Given the description of an element on the screen output the (x, y) to click on. 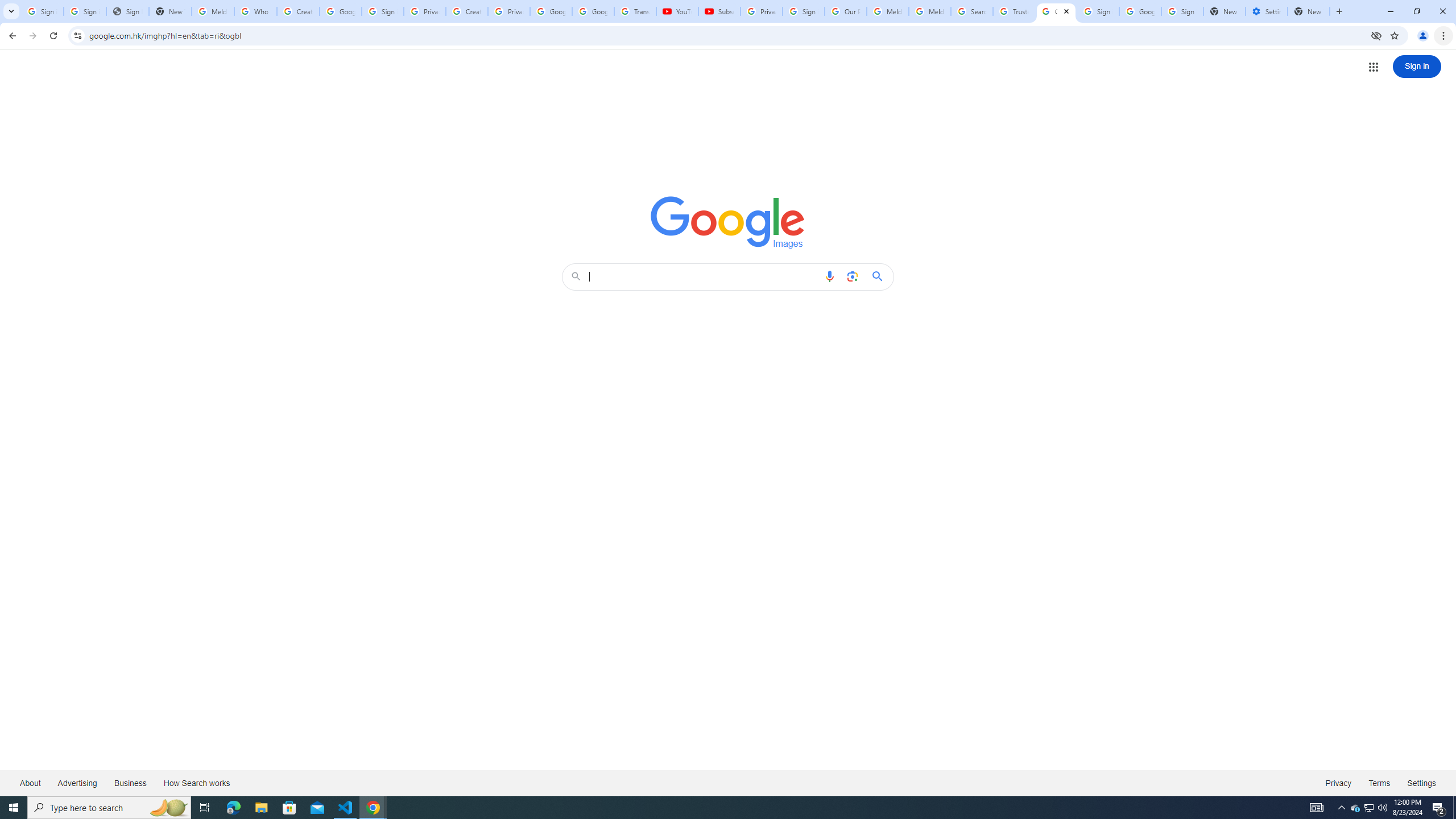
Google Search (880, 276)
Create your Google Account (298, 11)
How Search works (196, 782)
Create your Google Account (467, 11)
YouTube (676, 11)
Sign in - Google Accounts (382, 11)
